Given the description of an element on the screen output the (x, y) to click on. 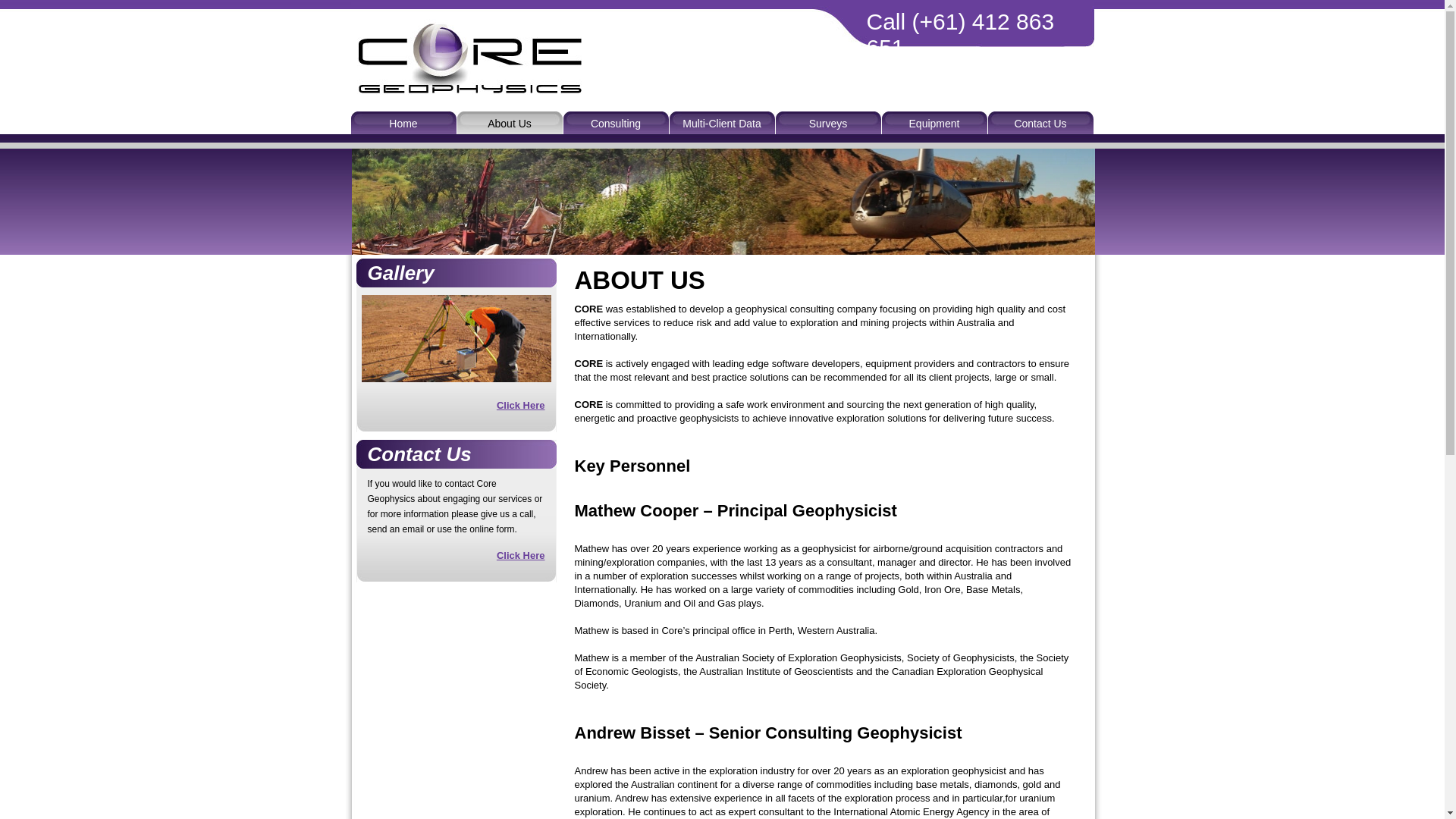
Click Here Element type: text (520, 403)
About Us Element type: text (509, 122)
Click Here Element type: text (520, 553)
Multi-Client Data Element type: text (721, 122)
Core Geophysics Element type: hover (466, 91)
Consulting Element type: text (615, 122)
Home Element type: text (403, 122)
Surveys Element type: text (828, 122)
Contact Us Element type: text (1040, 122)
Equipment Element type: text (934, 122)
